Given the description of an element on the screen output the (x, y) to click on. 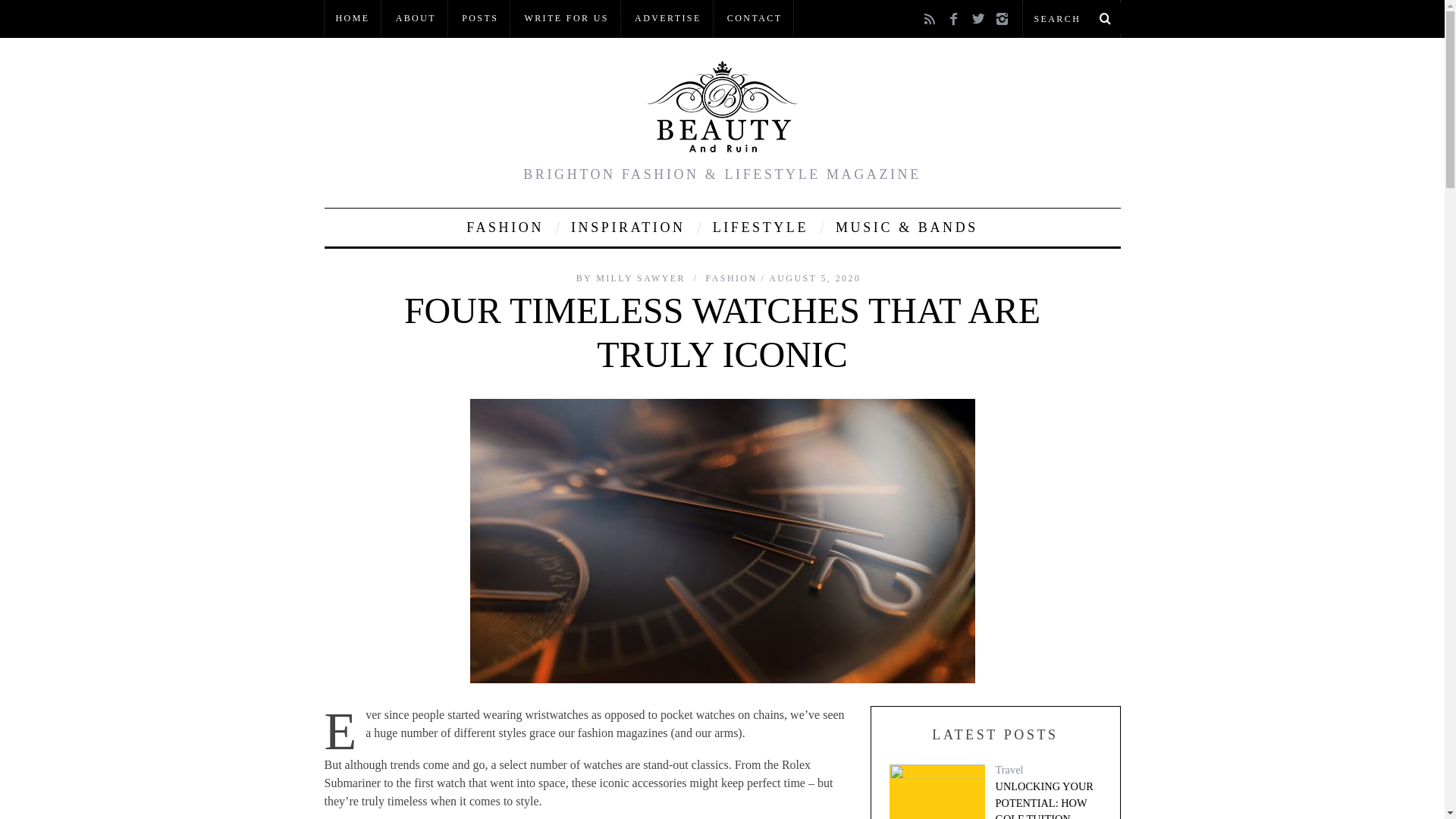
HOME (352, 18)
INSPIRATION (628, 227)
FASHION (504, 227)
POSTS (479, 18)
ADVERTISE (668, 18)
LIFESTYLE (760, 227)
Search (1071, 18)
CONTACT (754, 18)
ABOUT (415, 18)
WRITE FOR US (566, 18)
